Given the description of an element on the screen output the (x, y) to click on. 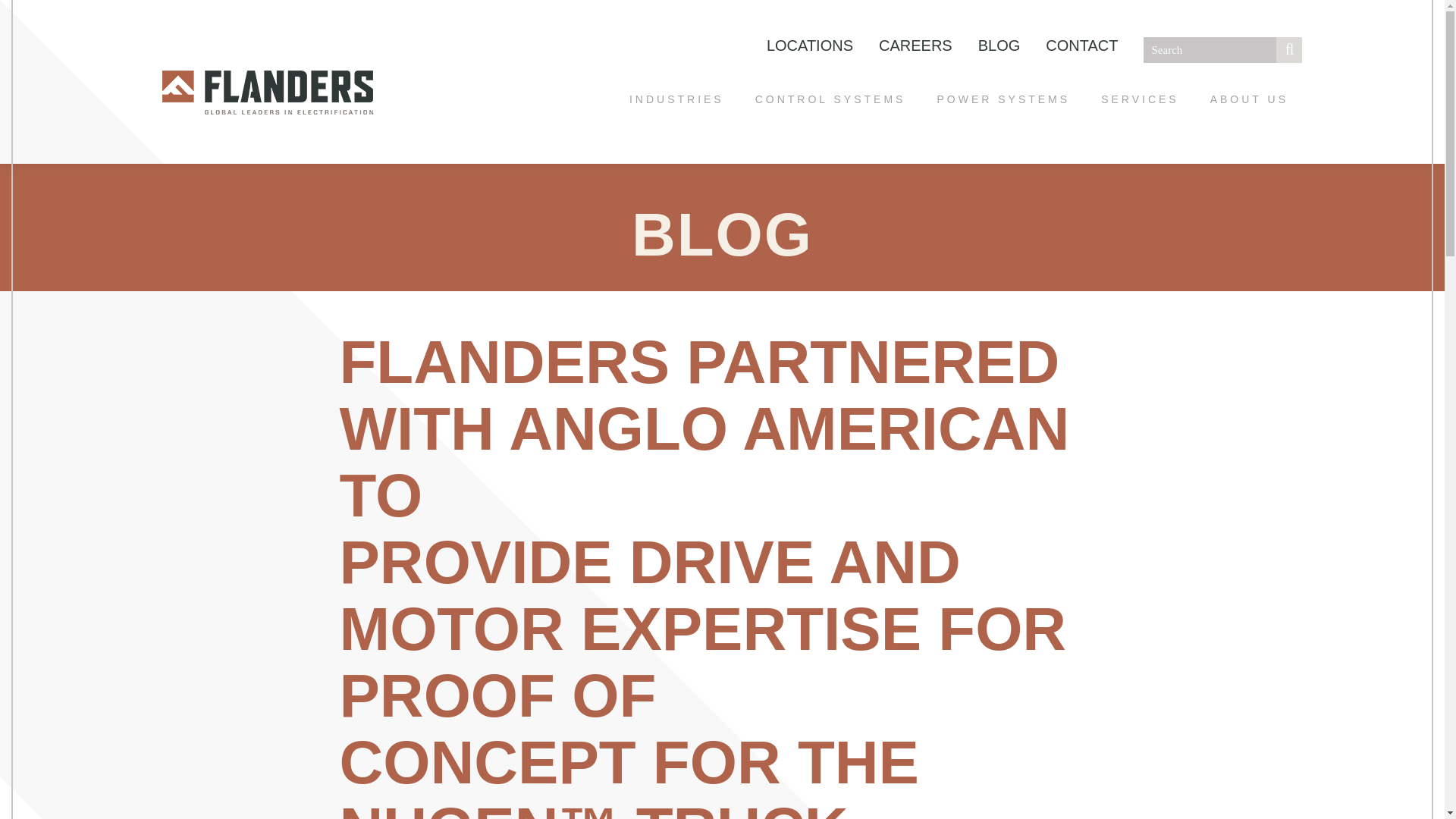
Search for: (1221, 49)
LOCATIONS (809, 45)
CAREERS (915, 45)
